Given the description of an element on the screen output the (x, y) to click on. 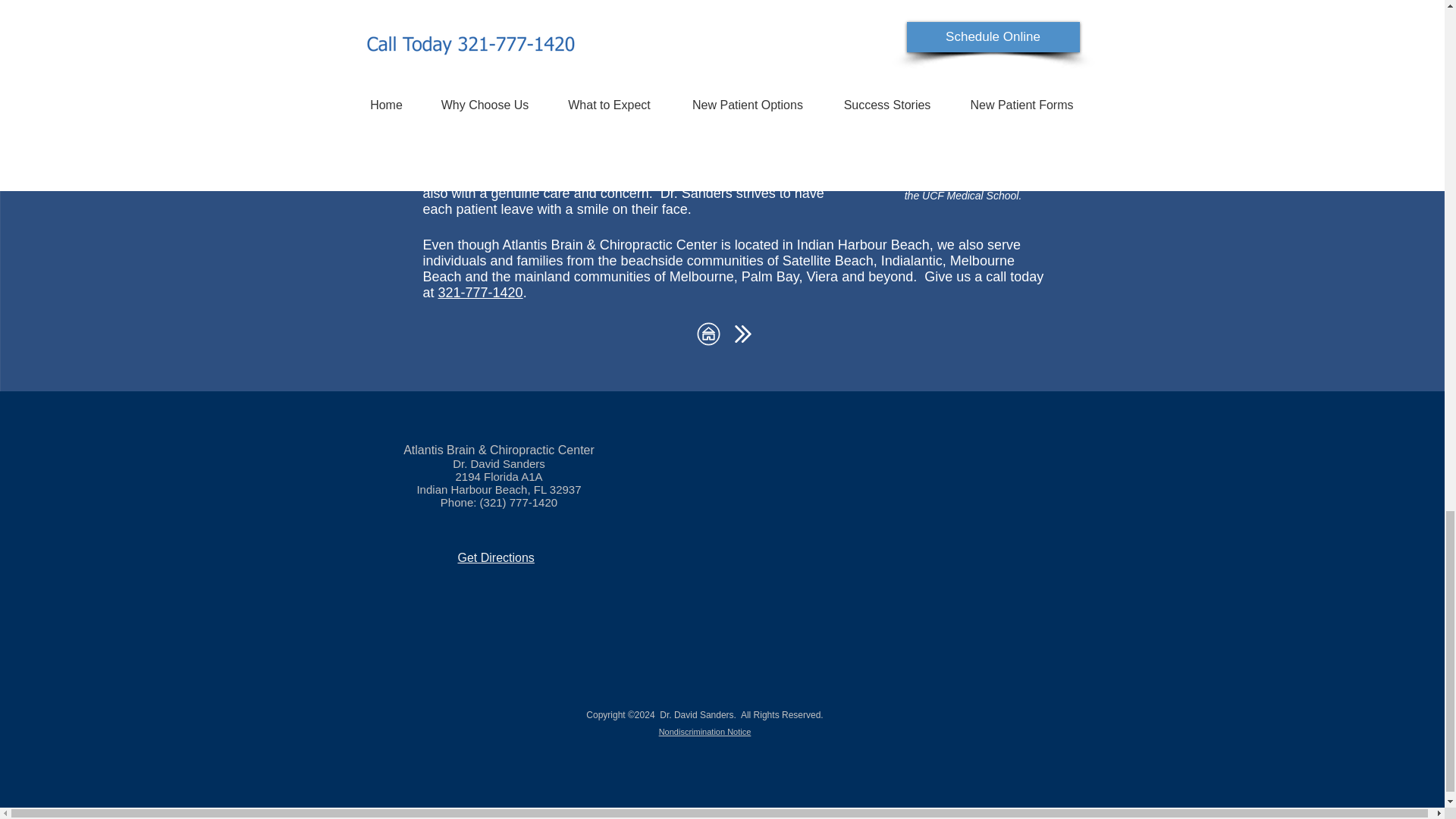
Get Directions (496, 557)
321-777-1420 (480, 292)
Nondiscrimination Notice (705, 731)
